Given the description of an element on the screen output the (x, y) to click on. 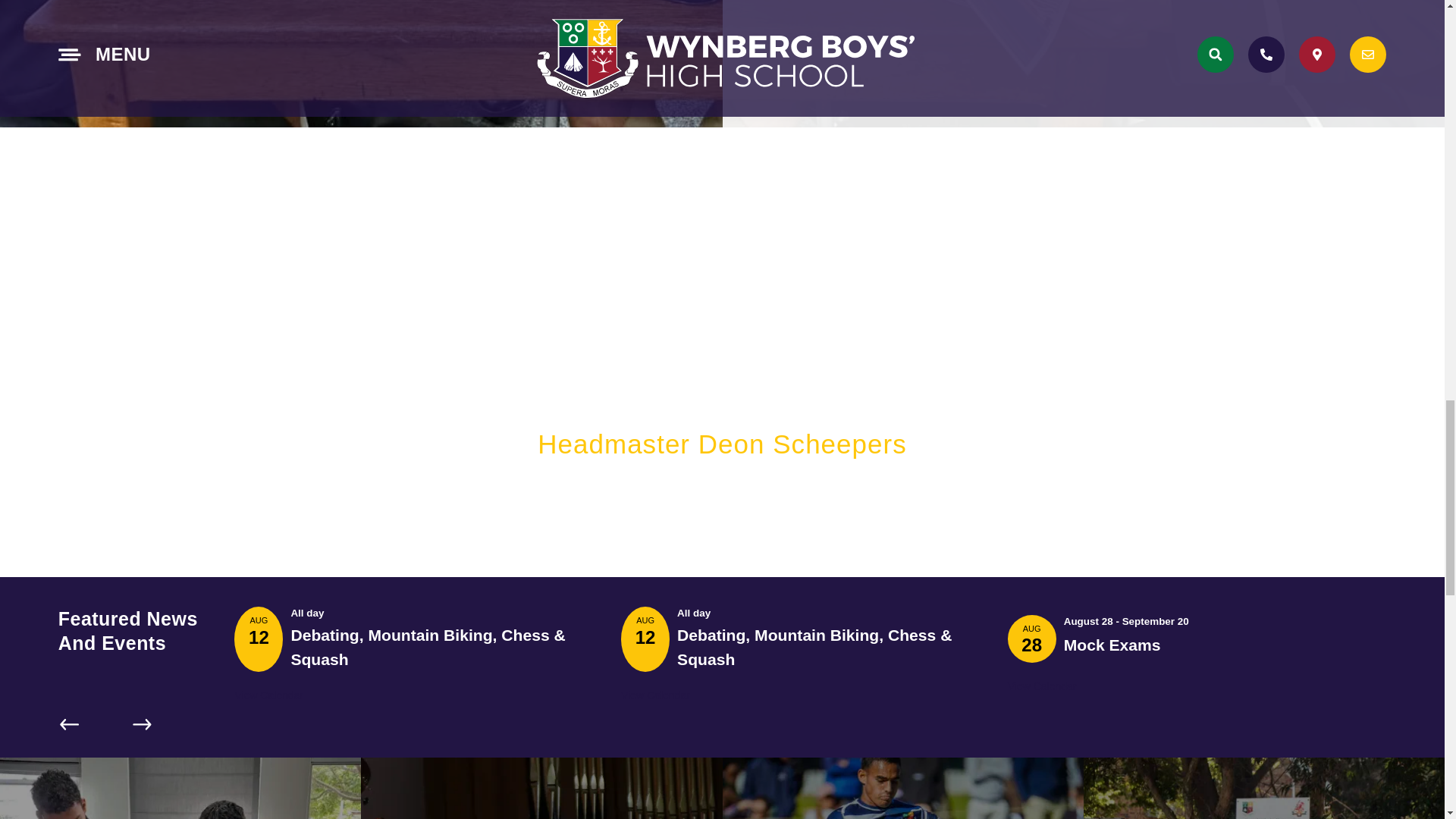
Mock Exams (1112, 645)
View more events. (655, 695)
View more events. (1042, 686)
View more events. (268, 695)
